Given the description of an element on the screen output the (x, y) to click on. 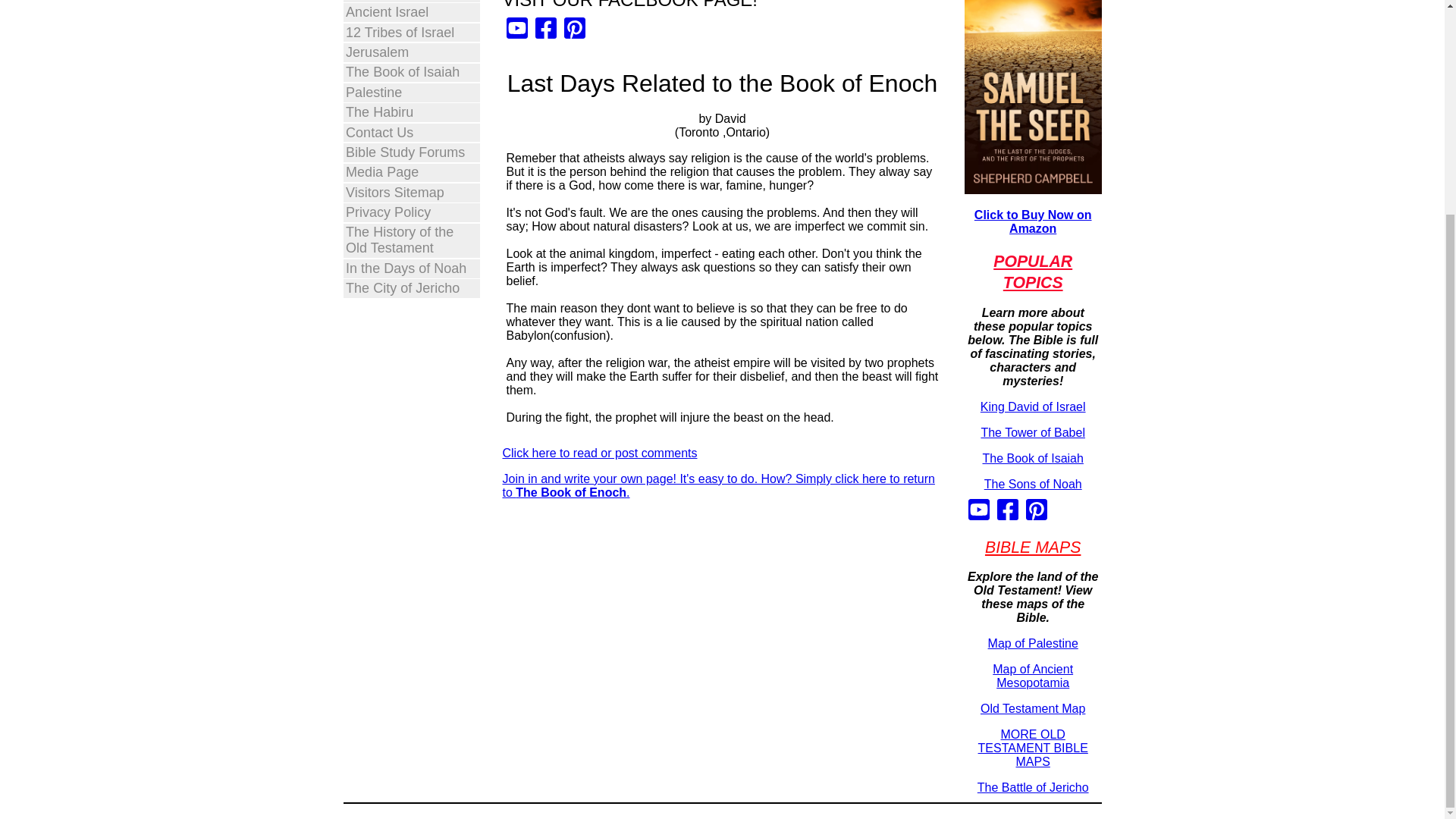
Click here to read or post comments (599, 452)
The Habiru (411, 112)
Jerusalem (411, 52)
The Book of Isaiah (411, 72)
12 Tribes of Israel (411, 32)
Contact Us (411, 132)
Ancient Israel (411, 12)
Bible Study Forums (411, 152)
Palestine (411, 92)
Abraham (411, 1)
